Given the description of an element on the screen output the (x, y) to click on. 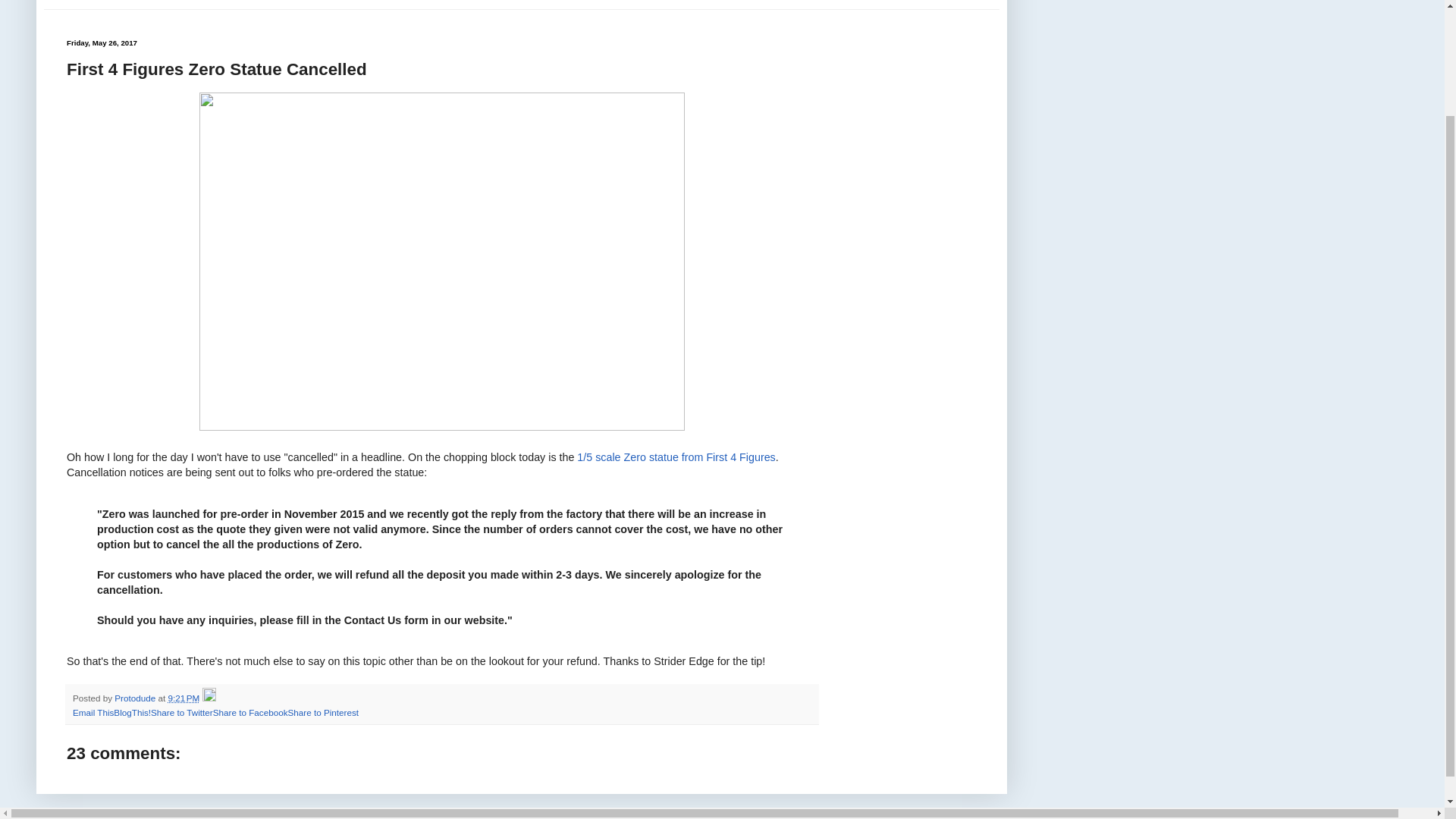
Email This (92, 712)
Share to Facebook (250, 712)
Share to Pinterest (322, 712)
BlogThis! (132, 712)
Share to Twitter (181, 712)
permanent link (183, 697)
Protodude (136, 697)
author profile (136, 697)
Share to Facebook (250, 712)
Email This (92, 712)
Share to Pinterest (322, 712)
Share to Twitter (181, 712)
Edit Post (208, 697)
BlogThis! (132, 712)
